Given the description of an element on the screen output the (x, y) to click on. 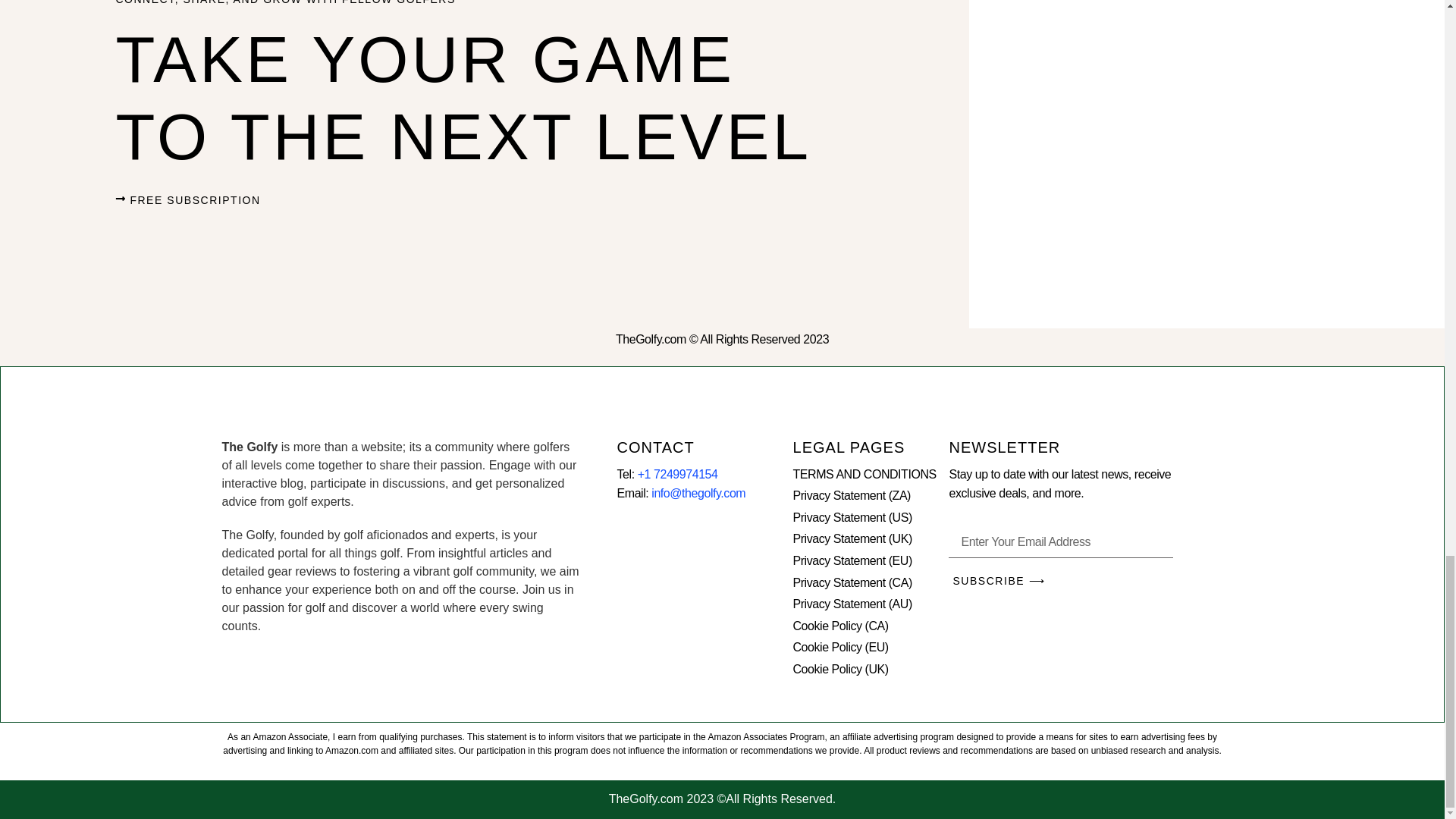
FREE SUBSCRIPTION (187, 200)
TERMS AND CONDITIONS (871, 474)
